Given the description of an element on the screen output the (x, y) to click on. 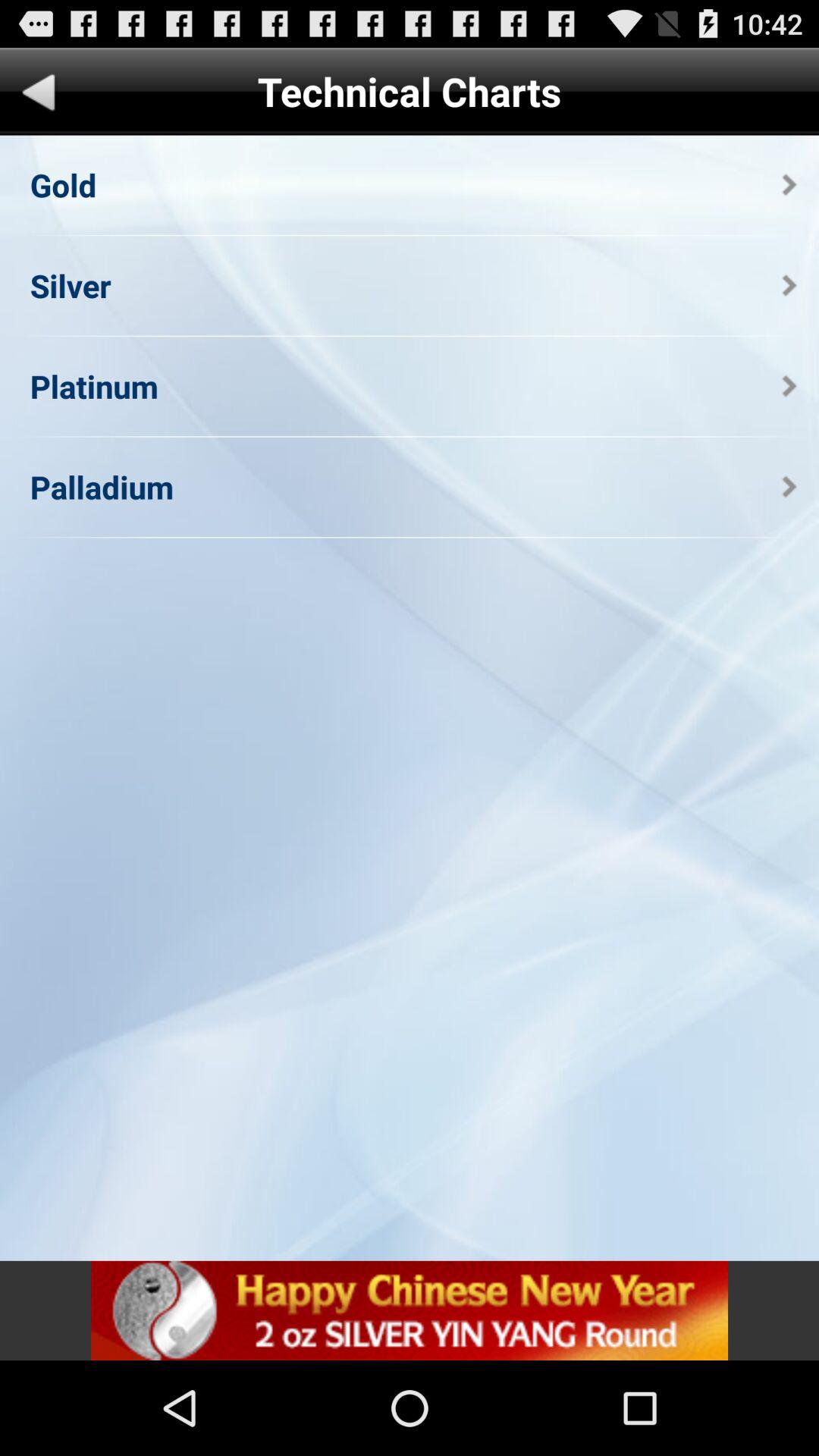
select app to the right of the palladium item (789, 486)
